Given the description of an element on the screen output the (x, y) to click on. 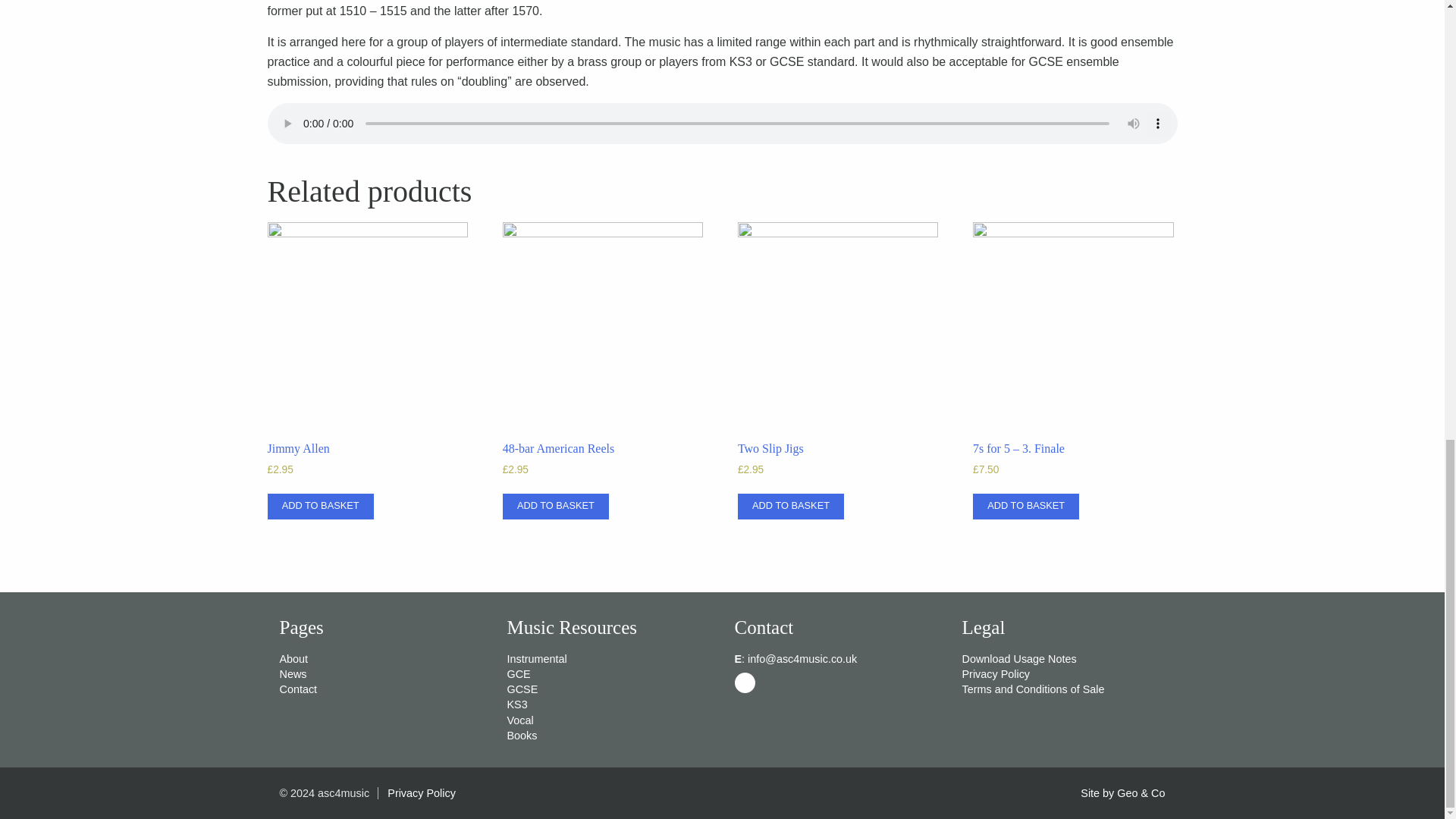
ADD TO BASKET (319, 506)
ADD TO BASKET (791, 506)
ADD TO BASKET (555, 506)
About (293, 658)
ADD TO BASKET (1025, 506)
